Given the description of an element on the screen output the (x, y) to click on. 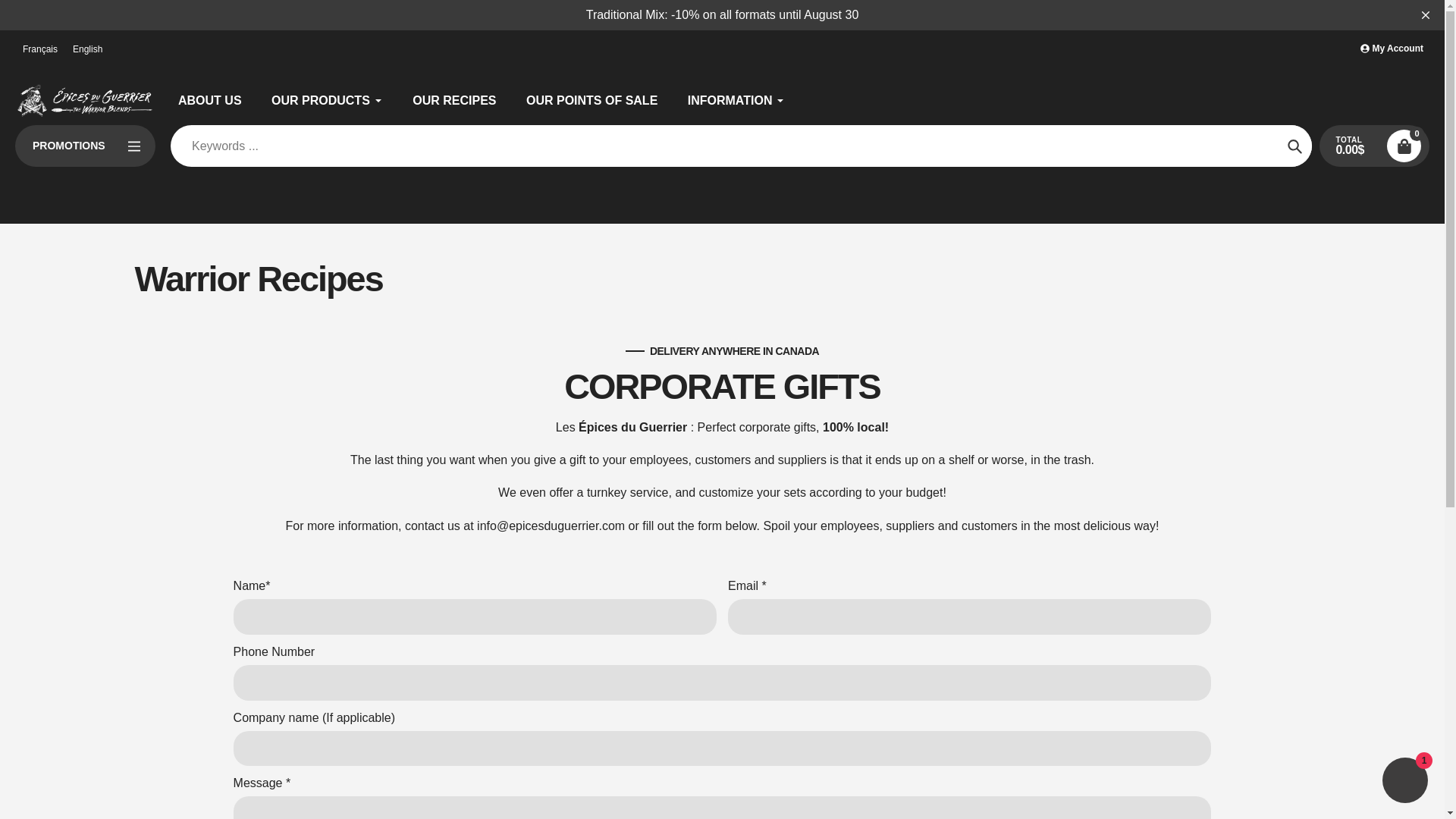
Shopify online store chat (1404, 781)
0 (1404, 145)
ABOUT US (209, 99)
OUR RECIPES (454, 99)
OUR PRODUCTS (326, 99)
PROMOTIONS (84, 146)
INFORMATION (736, 99)
My Account (1391, 48)
OUR POINTS OF SALE (591, 99)
English (87, 49)
